Given the description of an element on the screen output the (x, y) to click on. 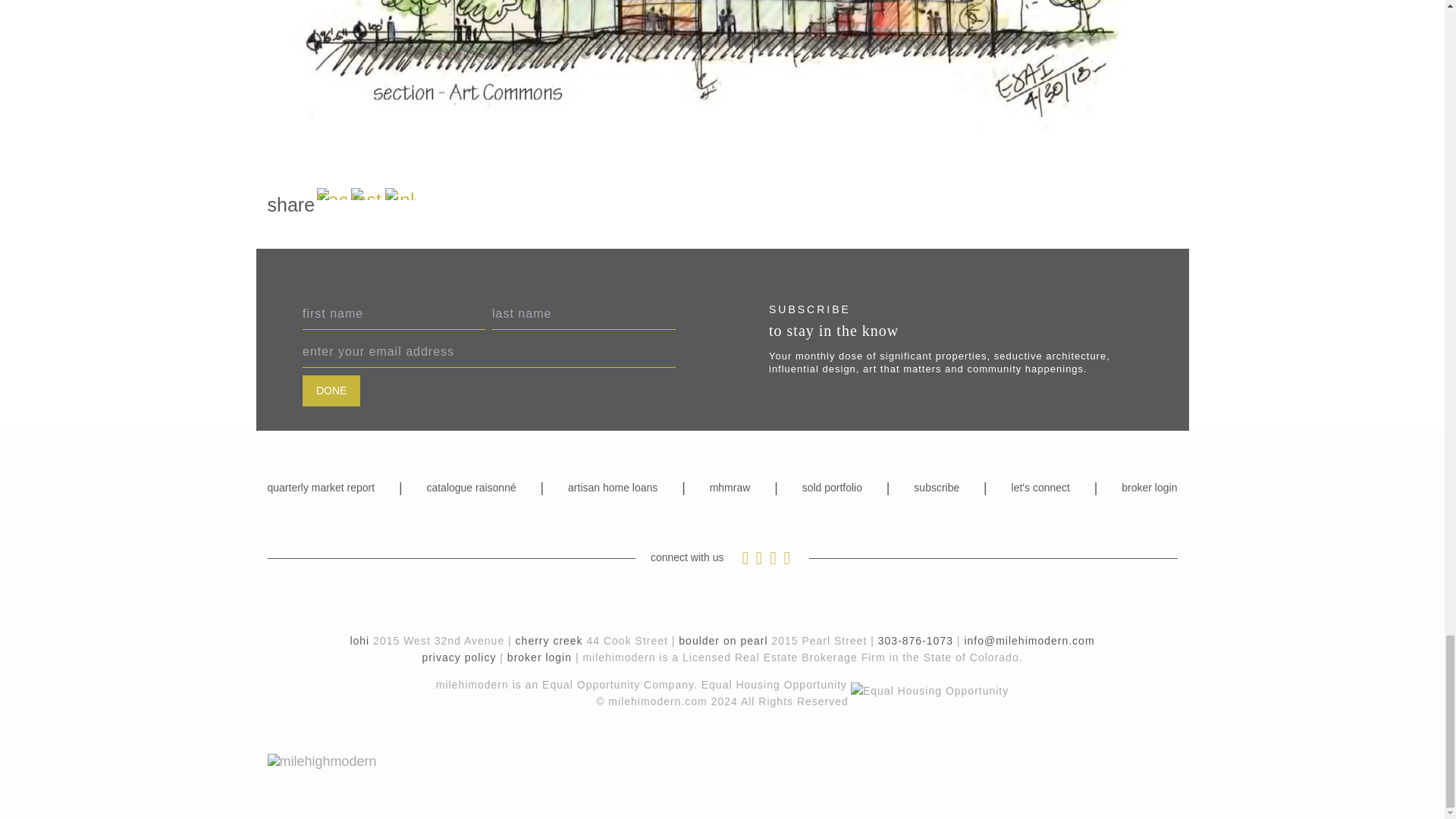
DONE (330, 390)
first name (394, 314)
Instagram (365, 193)
arch-ESAI-image-1200x678 (721, 70)
LinkedIn (399, 193)
Facebook (332, 193)
last name (583, 314)
